Given the description of an element on the screen output the (x, y) to click on. 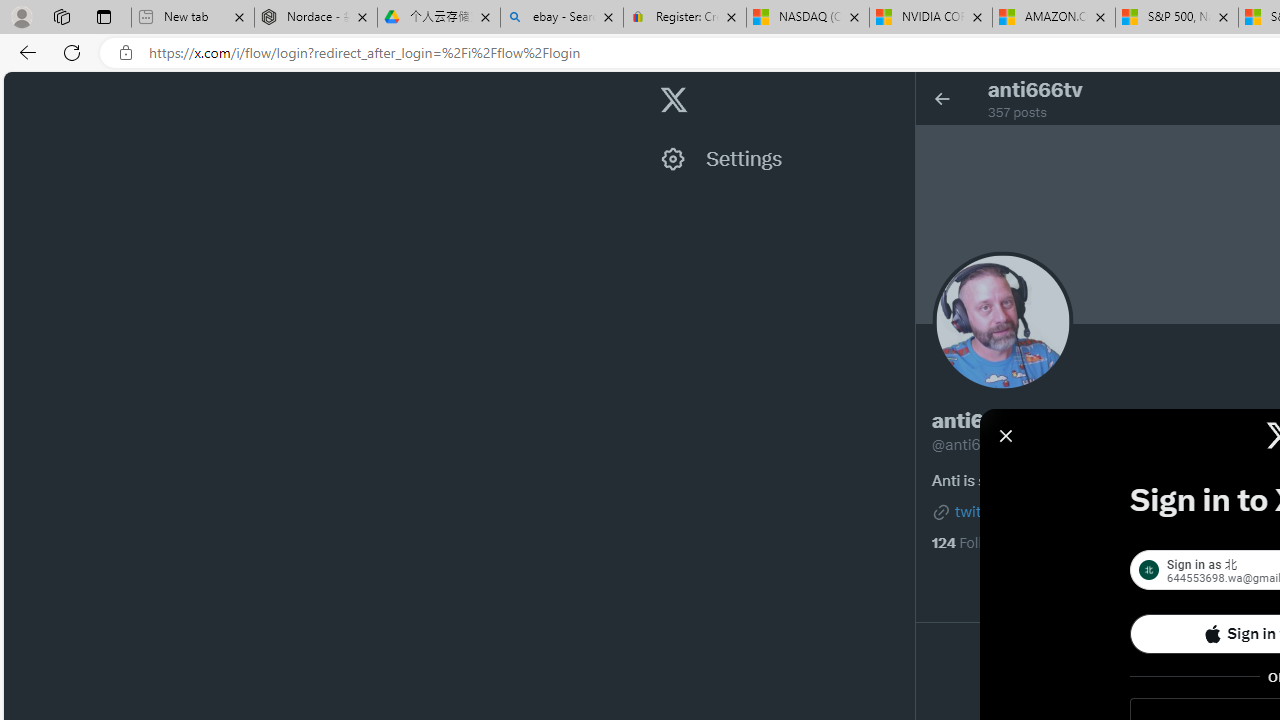
New tab - Sleeping (192, 17)
ebay - Search (561, 17)
Back (24, 52)
S&P 500, Nasdaq end lower, weighed by Nvidia dip | Watch (1176, 17)
View site information (125, 53)
Tab actions menu (104, 16)
Workspaces (61, 16)
Register: Create a personal eBay account (684, 17)
Close tab (1222, 16)
Personal Profile (21, 16)
